Given the description of an element on the screen output the (x, y) to click on. 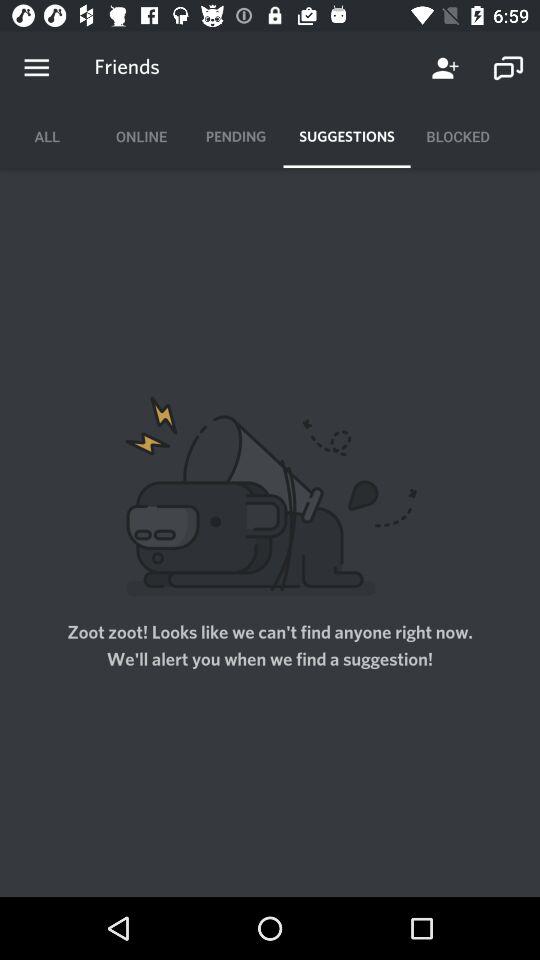
choose the icon next to friends icon (36, 68)
